Given the description of an element on the screen output the (x, y) to click on. 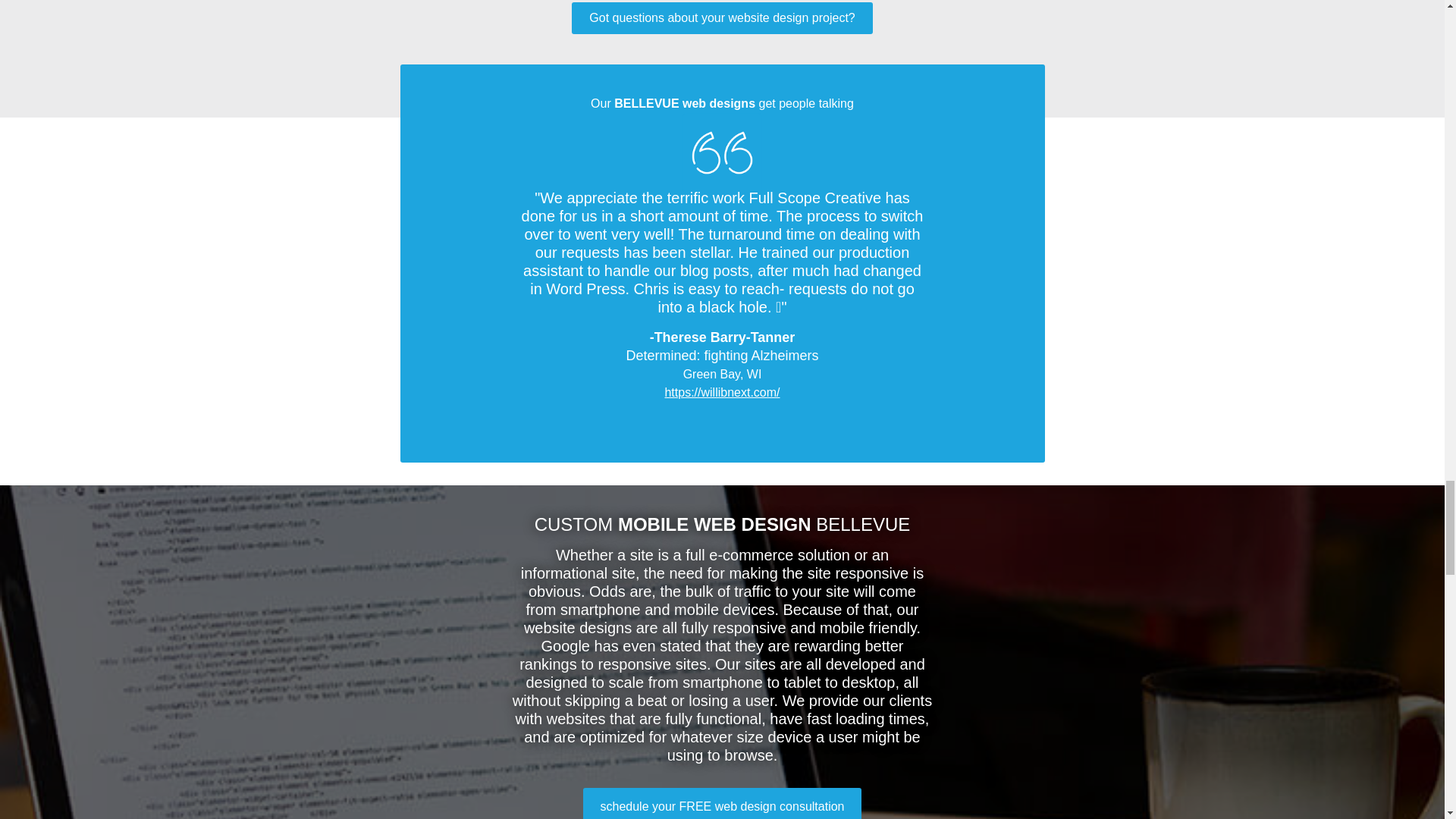
schedule your FREE web design consultation (722, 803)
Determined: fighting Alzheimers (722, 355)
Got questions about your website design project? (722, 18)
